Given the description of an element on the screen output the (x, y) to click on. 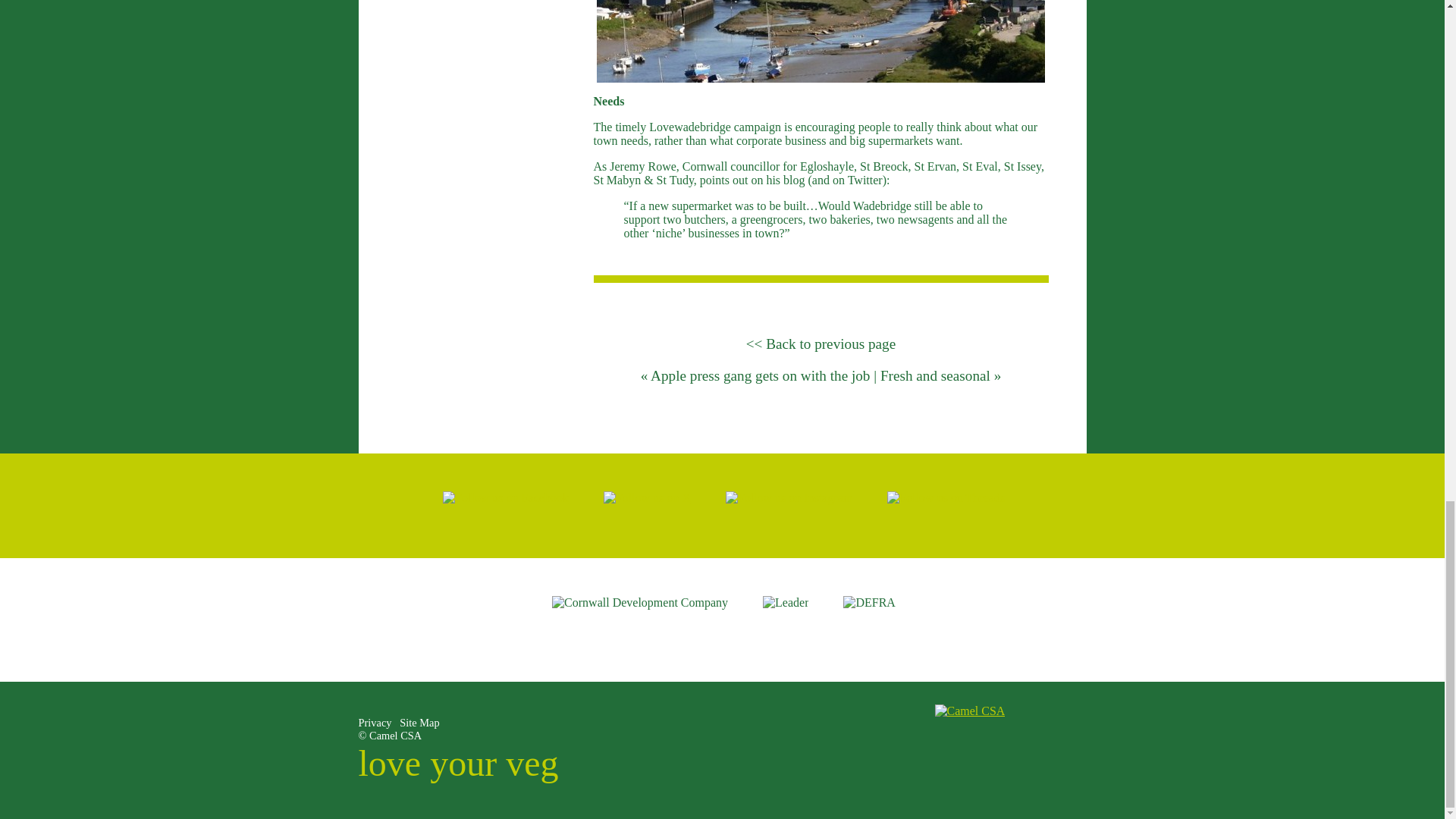
Fresh and seasonal (935, 375)
Apple press gang gets on with the job (759, 375)
Site Map (418, 722)
Privacy (374, 722)
